Given the description of an element on the screen output the (x, y) to click on. 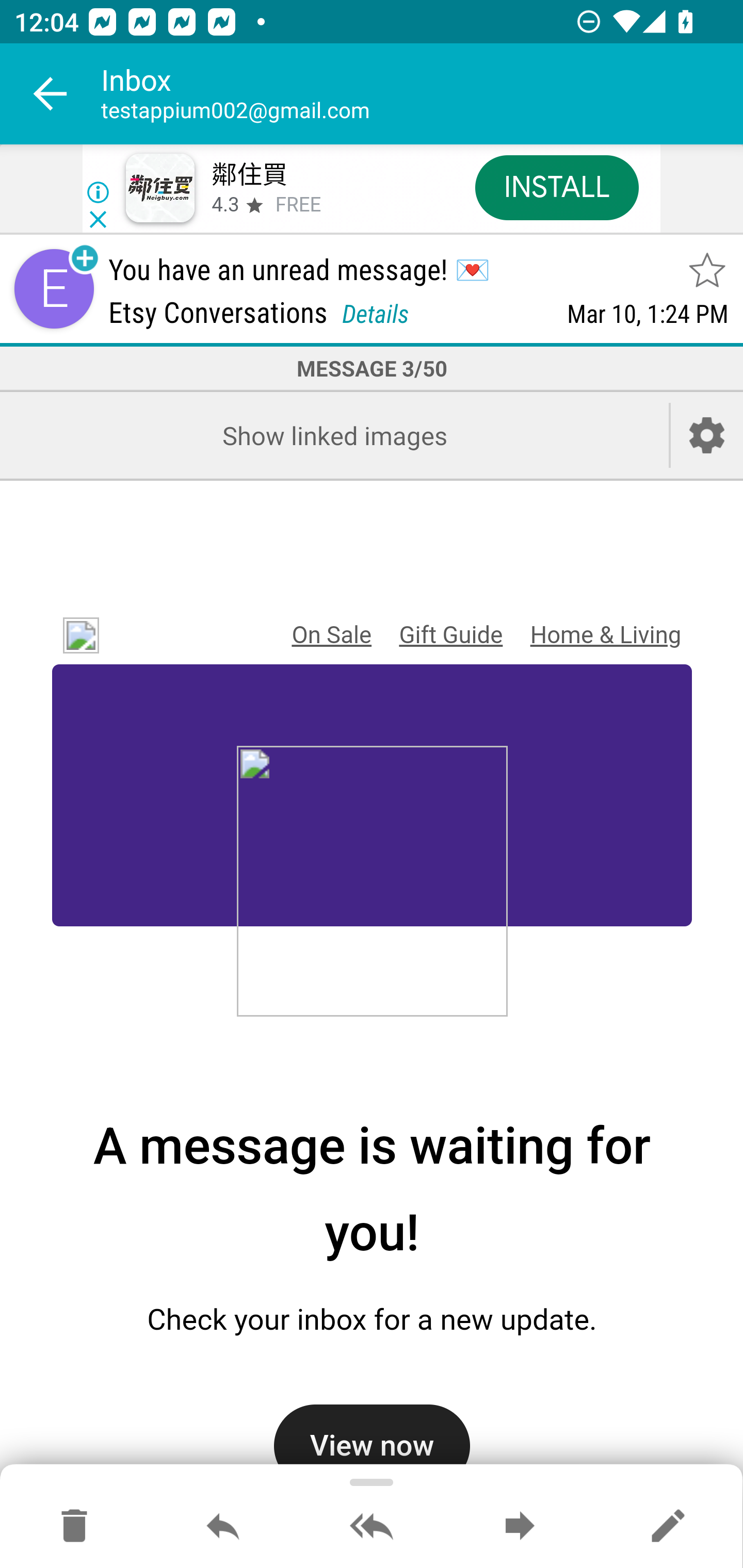
Navigate up (50, 93)
Inbox testappium002@gmail.com (422, 93)
INSTALL (556, 187)
鄰住買 (249, 175)
4.3 (224, 204)
FREE (298, 204)
Sender contact button (53, 289)
Show linked images (334, 435)
Account setup (706, 435)
On Sale (331, 634)
Gift Guide (450, 634)
Home & Living (605, 634)
Etsy (74, 636)
data: (371, 884)
View now (371, 1438)
Move to Deleted (74, 1527)
Reply (222, 1527)
Reply all (371, 1527)
Forward (519, 1527)
Reply as new (667, 1527)
